Given the description of an element on the screen output the (x, y) to click on. 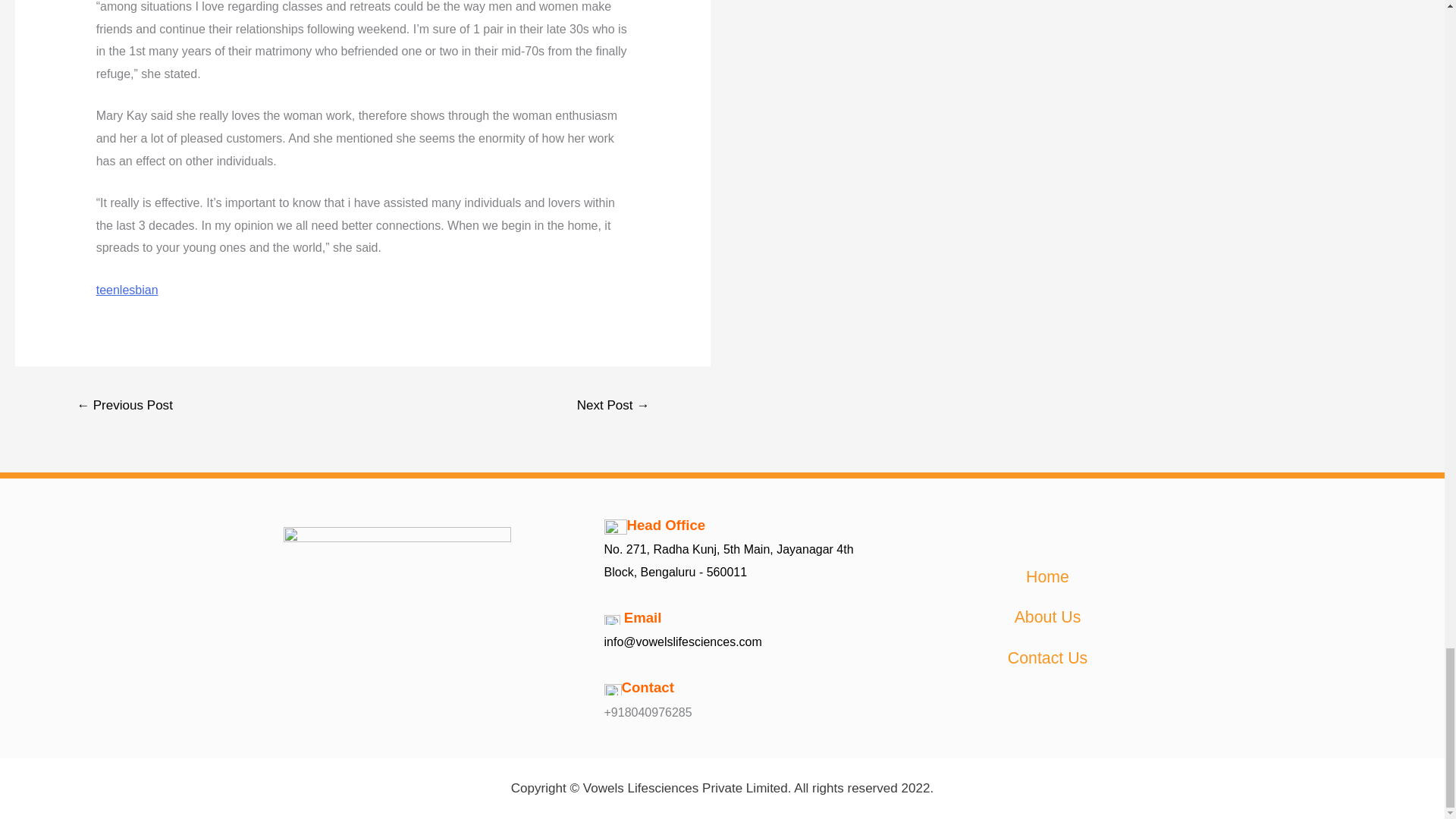
About Us (1047, 617)
teenlesbian (127, 289)
Home (1047, 577)
Contact Us (1048, 658)
